Given the description of an element on the screen output the (x, y) to click on. 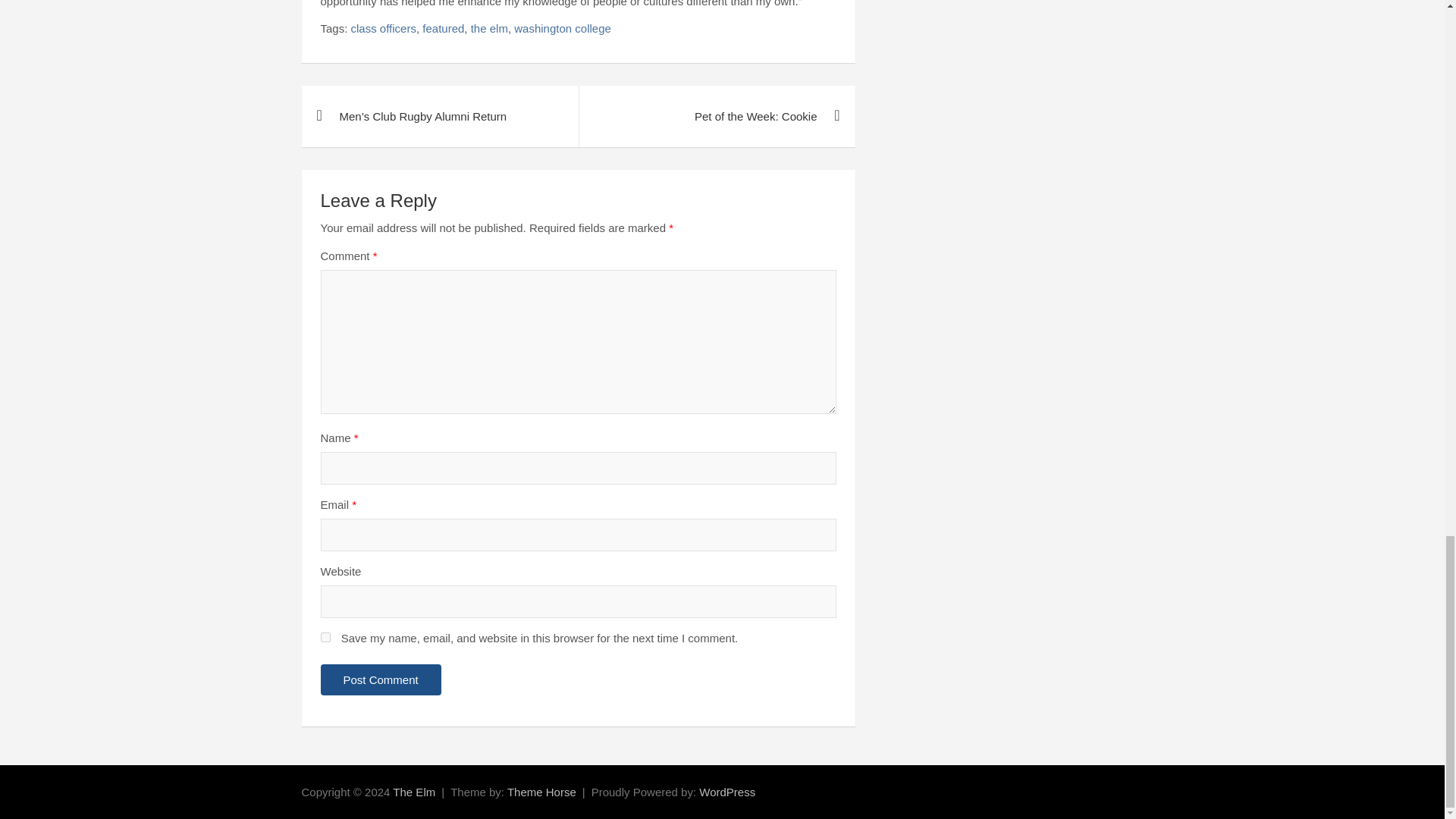
washington college (562, 28)
WordPress (726, 791)
yes (325, 637)
Pet of the Week: Cookie (716, 116)
featured (443, 28)
The Elm (414, 791)
Post Comment (380, 679)
Post Comment (380, 679)
class officers (383, 28)
Theme Horse (541, 791)
